Given the description of an element on the screen output the (x, y) to click on. 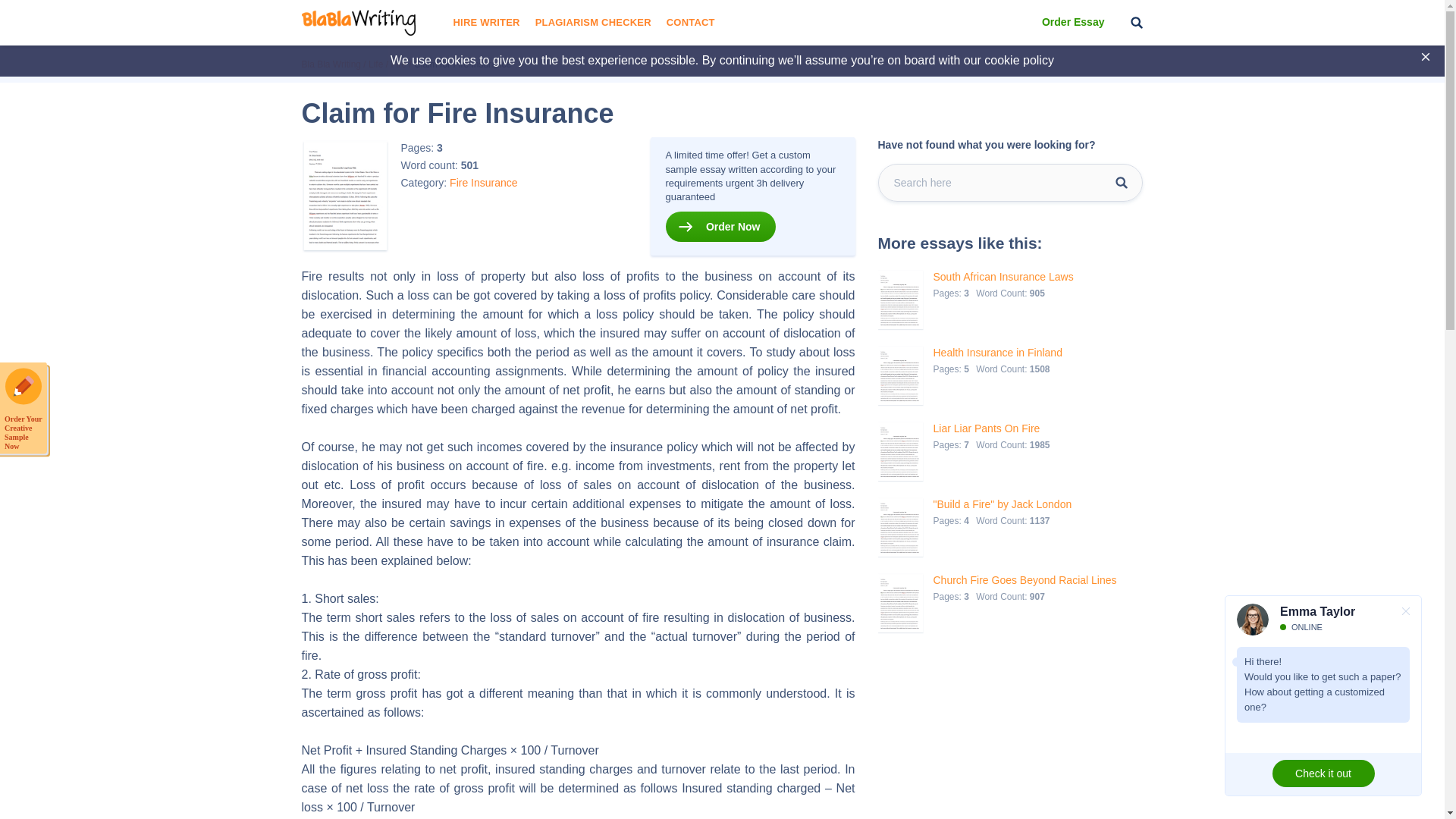
Fire (458, 182)
Insurance (493, 182)
Liar Liar Pants On Fire (992, 428)
Church Fire Goes Beyond Racial Lines (1024, 580)
cookie policy (1019, 60)
Order Essay (1073, 22)
Life (375, 63)
Fire. (398, 63)
PLAGIARISM CHECKER (592, 22)
Order Now (720, 226)
Bla Bla Writing (331, 63)
Health Insurance in Finland (997, 352)
Bla Bla Writing. (331, 63)
South African Insurance Laws (1003, 277)
Life. (375, 63)
